Given the description of an element on the screen output the (x, y) to click on. 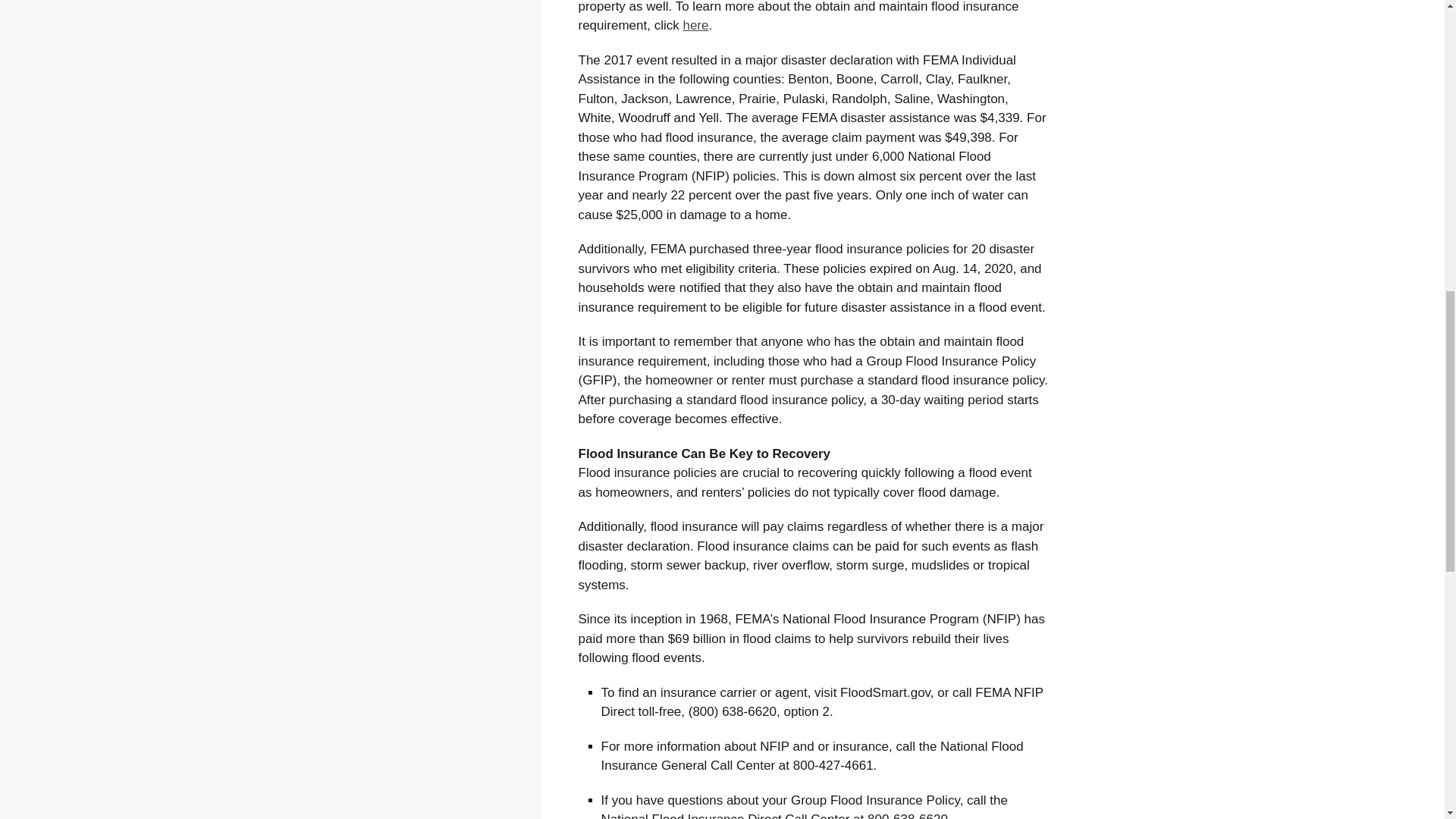
here (694, 25)
